Given the description of an element on the screen output the (x, y) to click on. 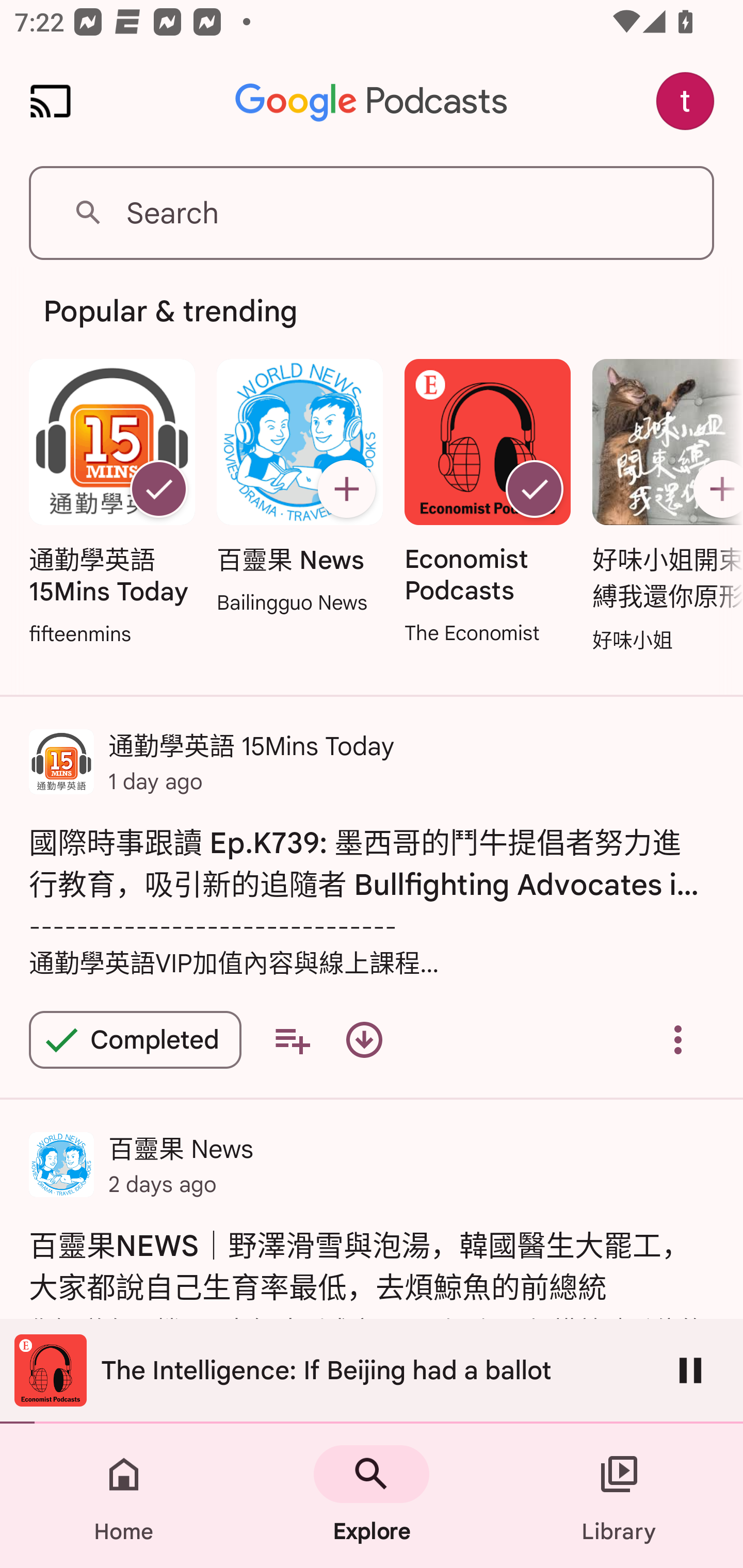
Cast. Disconnected (50, 101)
Search (371, 212)
百靈果 News Subscribe 百靈果 News Bailingguo News (299, 488)
好味小姐開束縛我還你原形 Subscribe 好味小姐開束縛我還你原形 好味小姐 (662, 507)
Unsubscribe (158, 489)
Subscribe (346, 489)
Unsubscribe (534, 489)
Subscribe (714, 489)
Add to your queue (291, 1040)
Download episode (364, 1040)
Overflow menu (677, 1040)
Pause (690, 1370)
Home (123, 1495)
Library (619, 1495)
